Given the description of an element on the screen output the (x, y) to click on. 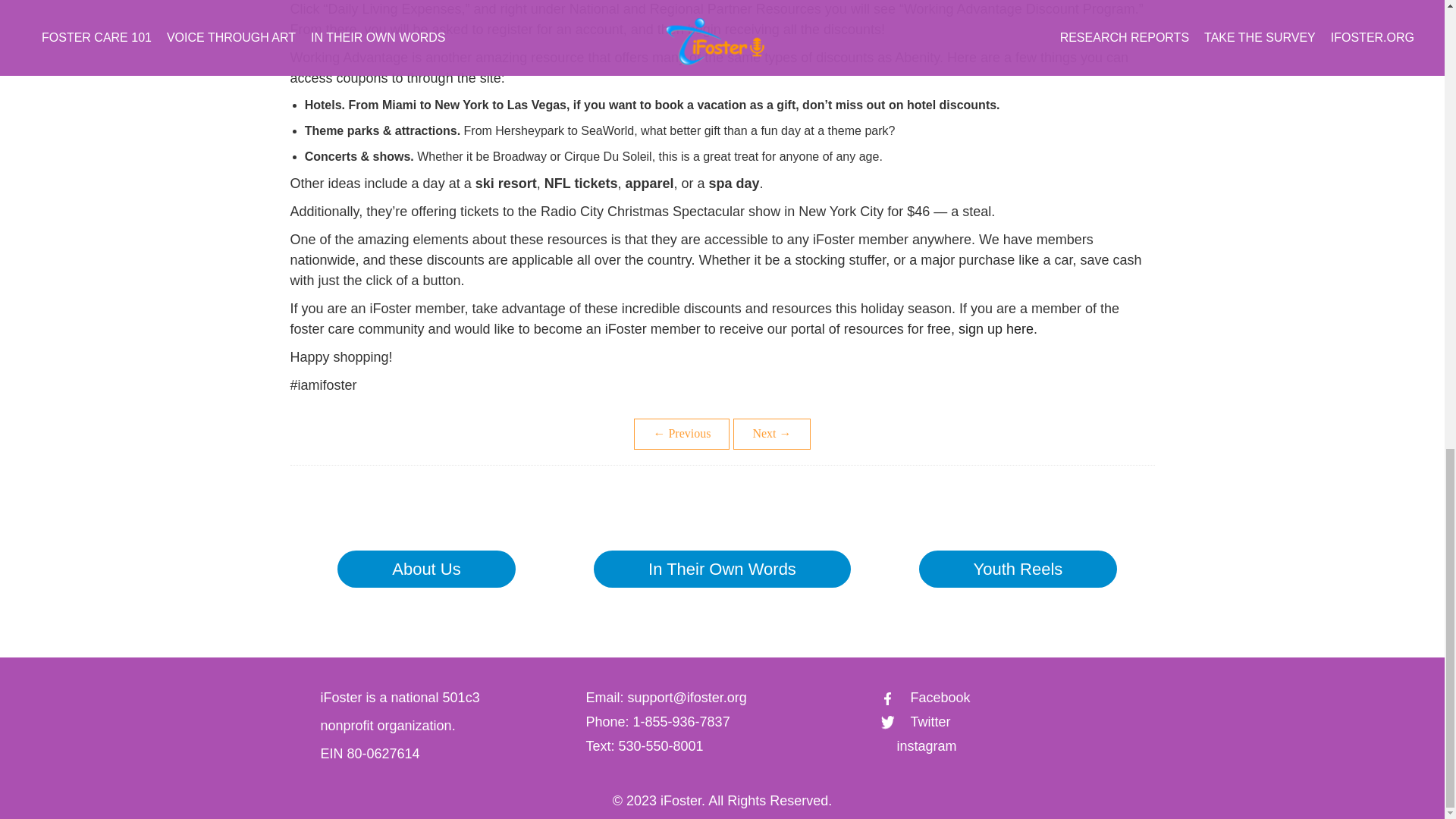
Follow Us on Twitter (915, 721)
Youth Reels (1018, 569)
In Their Own Words (722, 569)
sign up here (995, 328)
Follow Us on Facebook (924, 697)
Facebook (924, 697)
instagram (918, 745)
Follow Us on instagram (918, 745)
Twitter (915, 721)
About Us (426, 569)
